Given the description of an element on the screen output the (x, y) to click on. 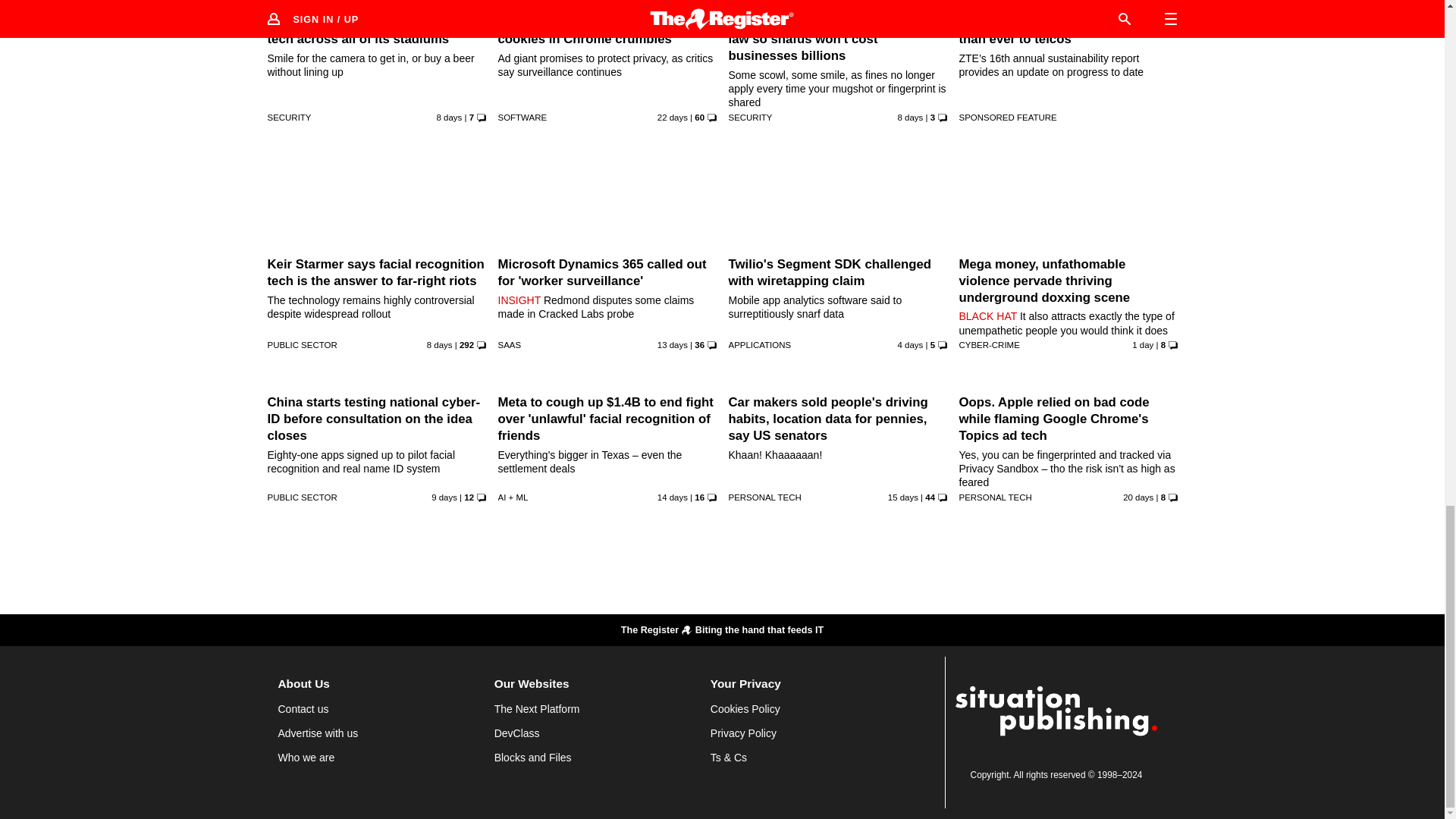
9 Aug 2024 23:28 (910, 344)
12 Aug 2024 14:24 (1142, 344)
31 Jul 2024 7:39 (672, 344)
23 Jul 2024 0:3 (672, 117)
6 Aug 2024 2:45 (910, 117)
5 Aug 2024 9:24 (439, 344)
30 Jul 2024 19:22 (672, 497)
6 Aug 2024 1:43 (449, 117)
5 Aug 2024 5:15 (443, 497)
